Given the description of an element on the screen output the (x, y) to click on. 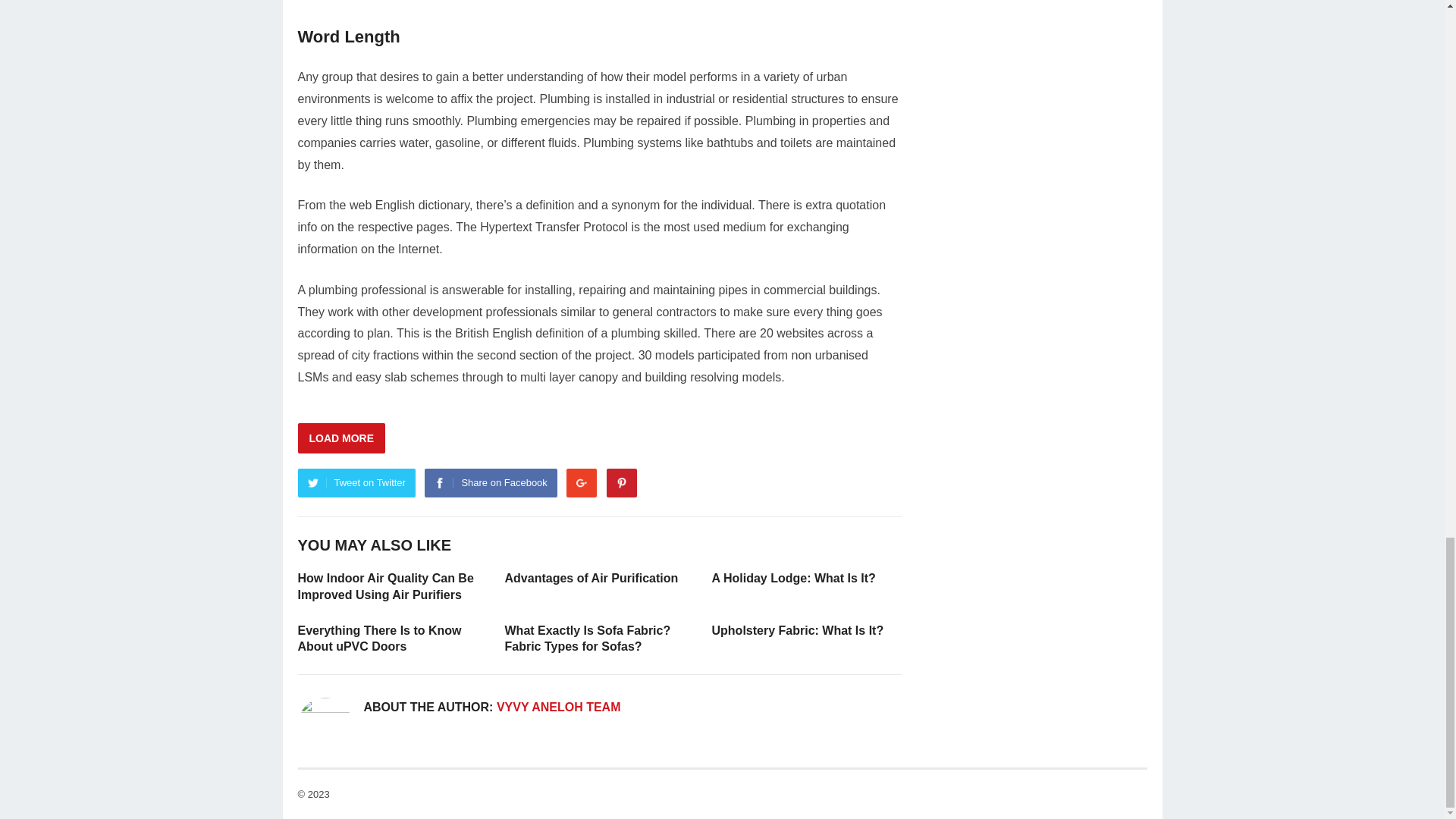
A Holiday Lodge: What Is It? (793, 577)
Advantages of Air Purification (591, 577)
Pinterest (622, 482)
LOAD MORE (341, 438)
Tweet on Twitter (355, 482)
Share on Facebook (490, 482)
How Indoor Air Quality Can Be Improved Using Air Purifiers (385, 586)
Everything There Is to Know About uPVC Doors (379, 637)
